Given the description of an element on the screen output the (x, y) to click on. 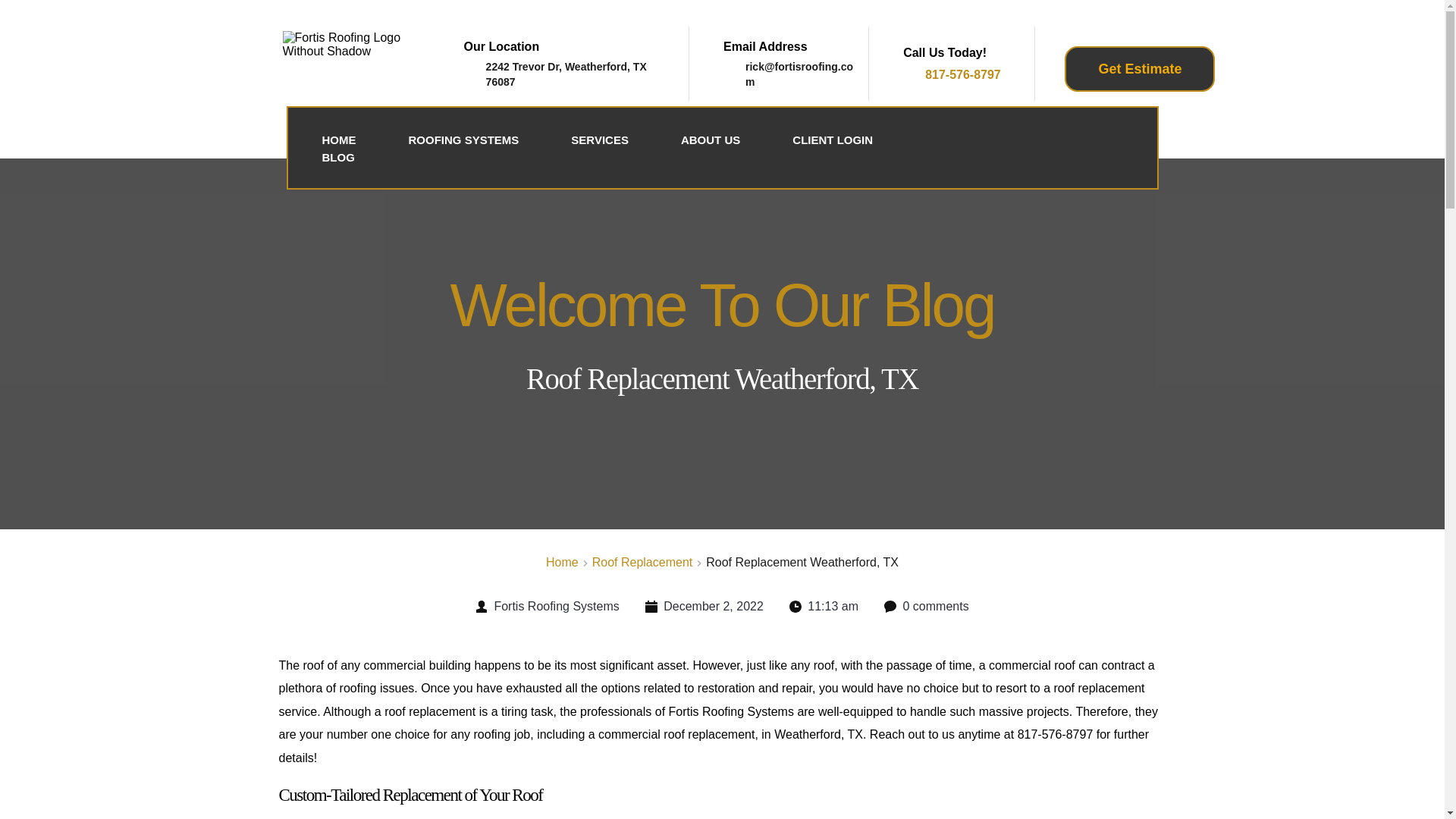
CLIENT LOGIN (832, 140)
Get Estimate (1139, 68)
HOME (338, 140)
BLOG (338, 158)
SERVICES (599, 140)
Roof Replacement Weatherford, Tx 1 (359, 58)
ROOFING SYSTEMS (463, 140)
ABOUT US (710, 140)
